Given the description of an element on the screen output the (x, y) to click on. 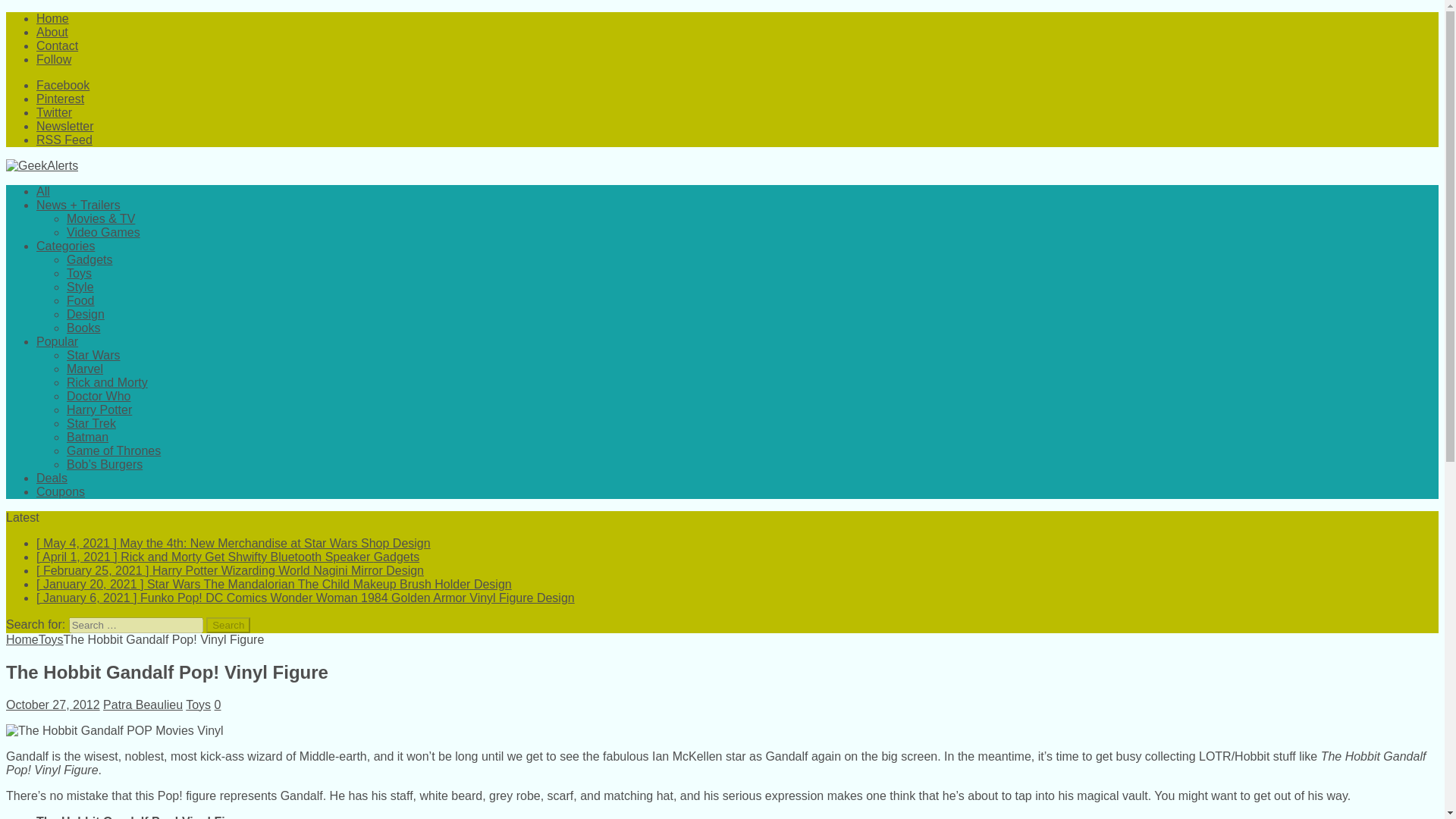
Home (22, 639)
Contact (57, 45)
Coupons (60, 491)
Categories (65, 245)
The Hobbit Gandalf POP Movies Vinyl (114, 730)
Gadgets (89, 259)
RSS Feed (64, 139)
Harry Potter (99, 409)
Popular (57, 341)
Video Games (102, 232)
Star Wars (93, 354)
Books (83, 327)
All (42, 191)
Facebook (62, 84)
Deals (51, 477)
